Given the description of an element on the screen output the (x, y) to click on. 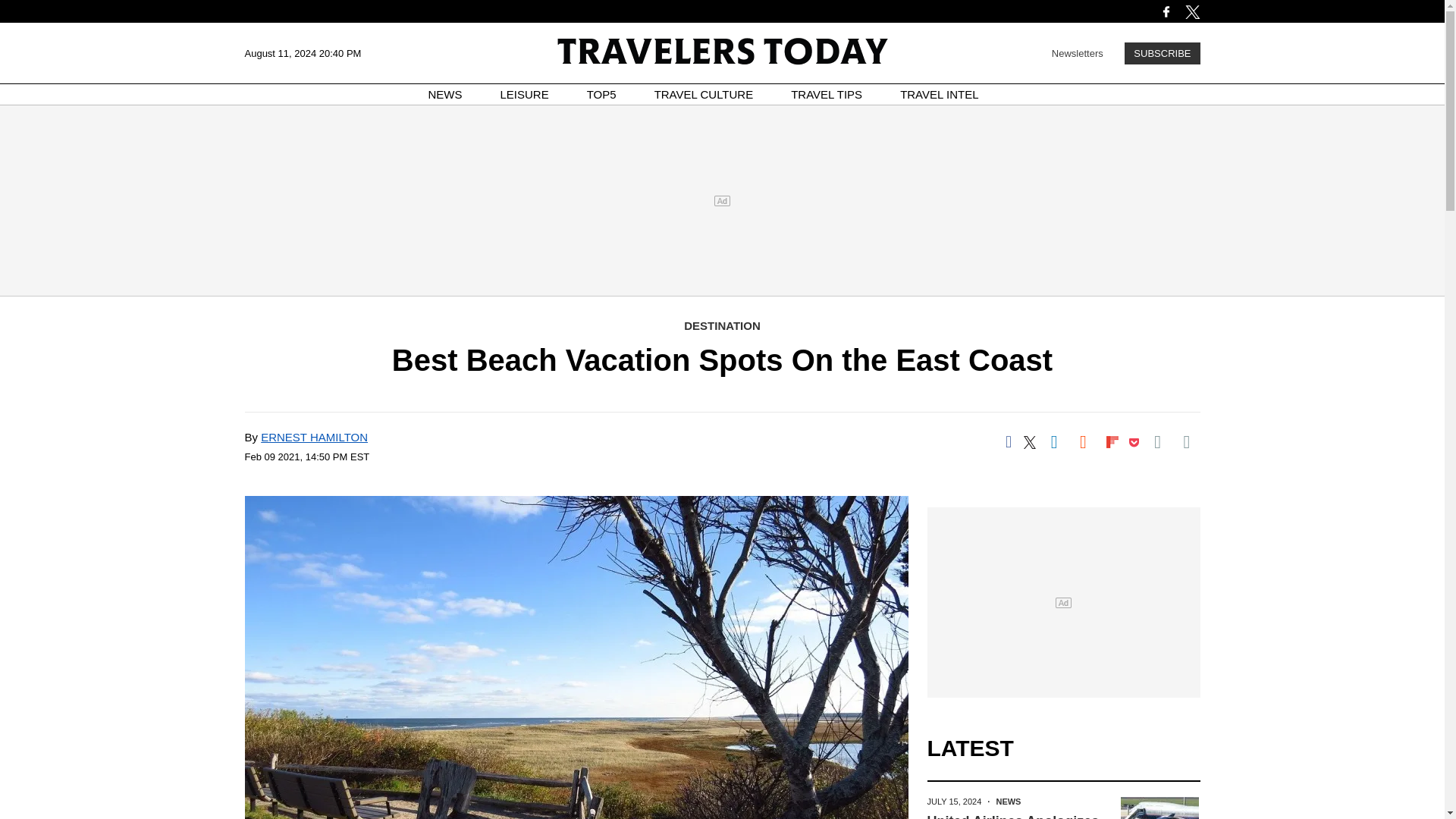
NEWS (1007, 800)
TOP5 (600, 93)
3rd party ad content (1062, 602)
TRAVEL INTEL (938, 93)
3rd party ad content (721, 201)
TRAVEL CULTURE (703, 93)
NEWS (445, 93)
Share on Facebook (1008, 441)
TRAVEL TIPS (825, 93)
SUBSCRIBE (1161, 53)
